Given the description of an element on the screen output the (x, y) to click on. 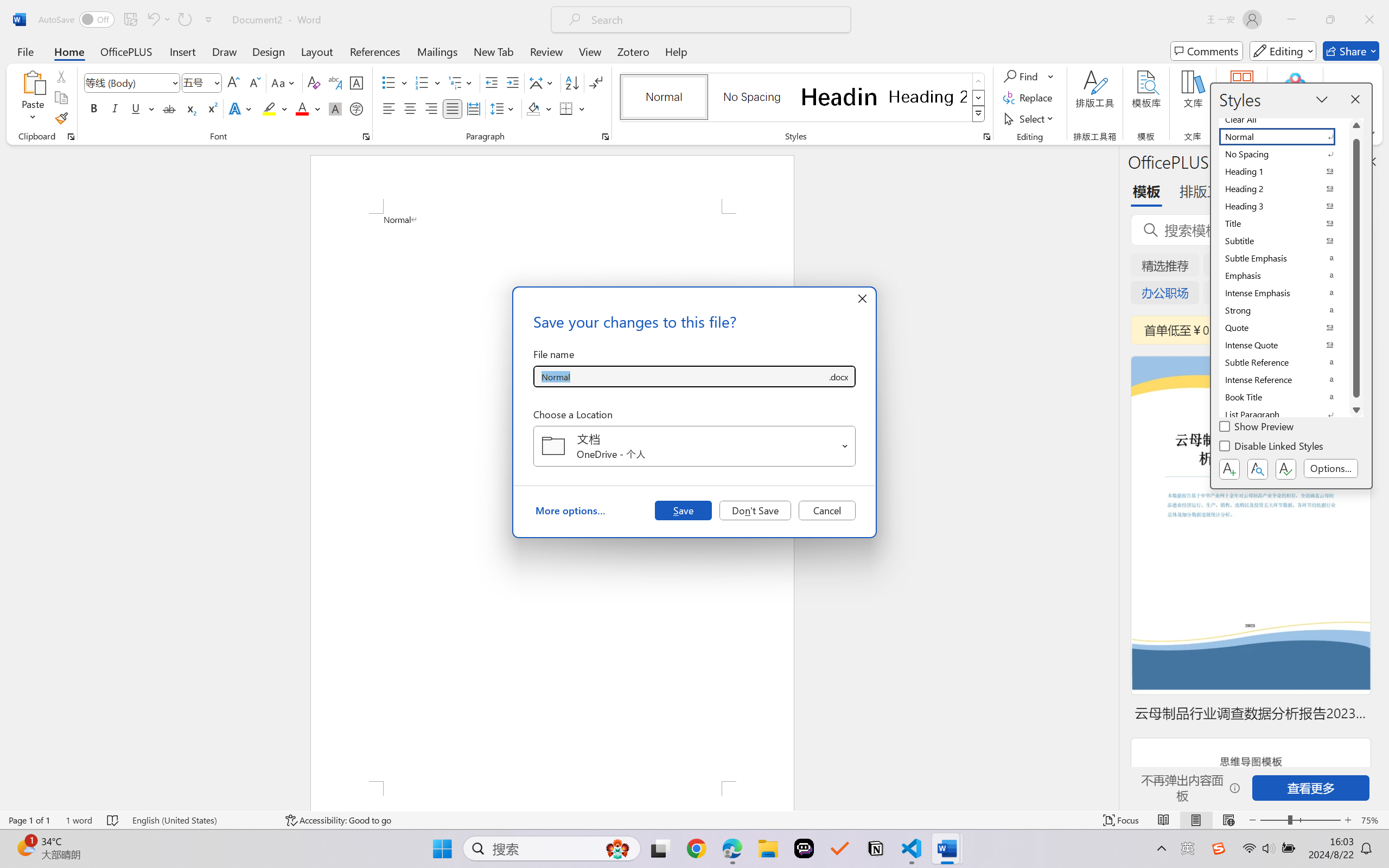
Notion (875, 848)
Font Color (308, 108)
Insert (182, 51)
Italic (115, 108)
Shrink Font (253, 82)
Bold (94, 108)
Subscript (190, 108)
Find (1029, 75)
Task Pane Options (1338, 161)
No Spacing (1283, 154)
